Given the description of an element on the screen output the (x, y) to click on. 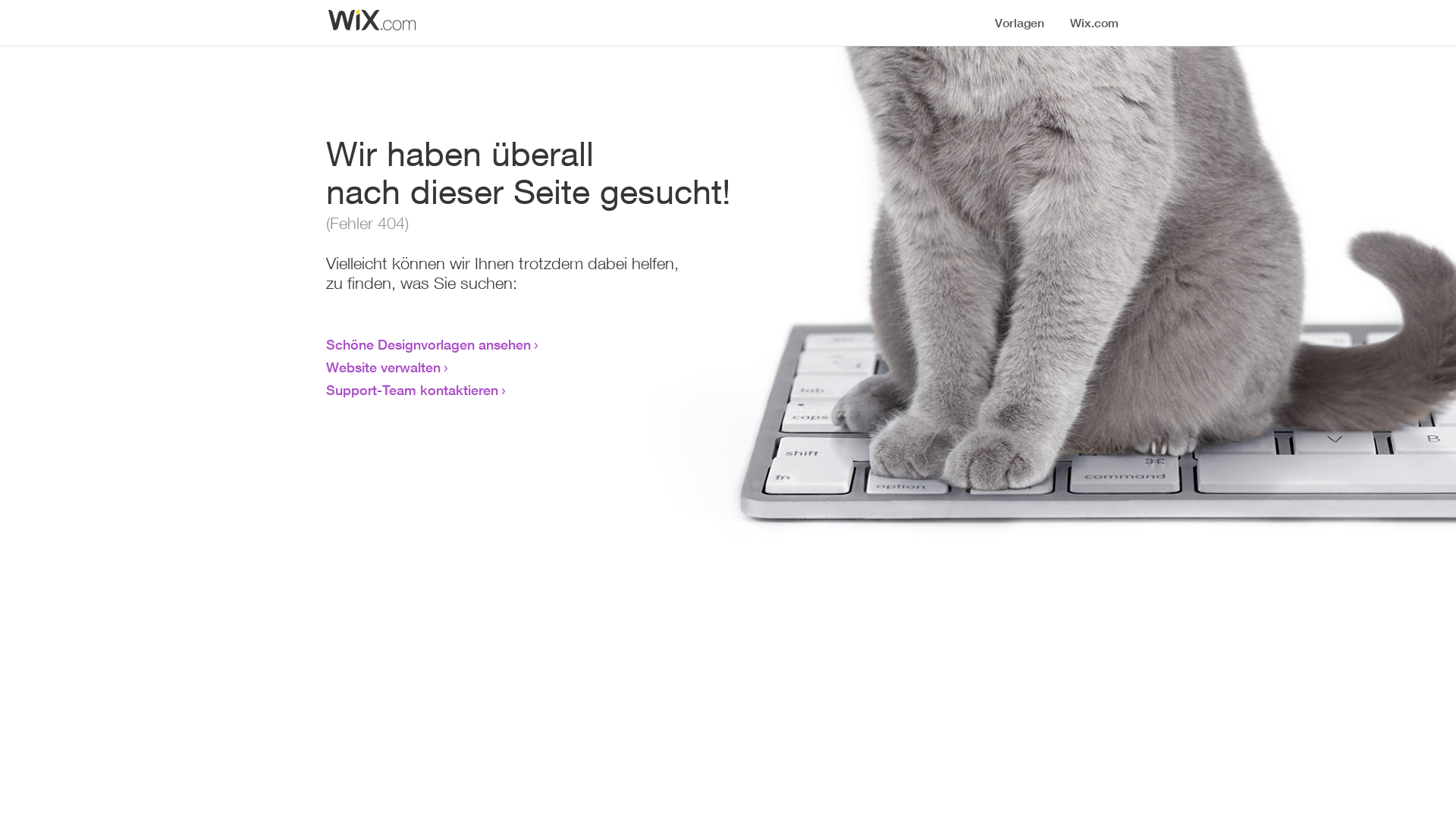
Website verwalten Element type: text (383, 366)
Support-Team kontaktieren Element type: text (412, 389)
